Given the description of an element on the screen output the (x, y) to click on. 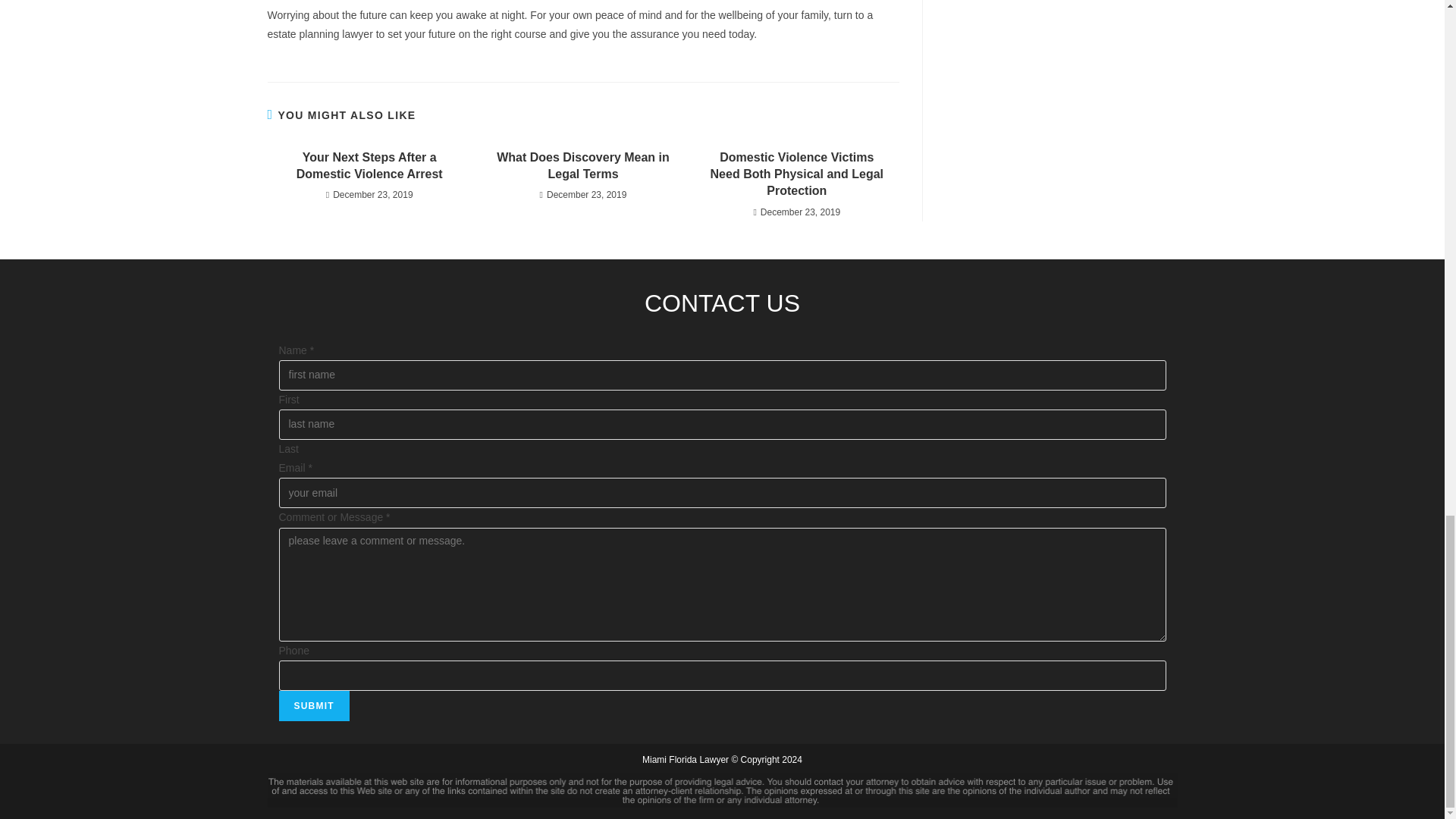
What Does Discovery Mean in Legal Terms (582, 166)
Your Next Steps After a Domestic Violence Arrest (368, 166)
